Given the description of an element on the screen output the (x, y) to click on. 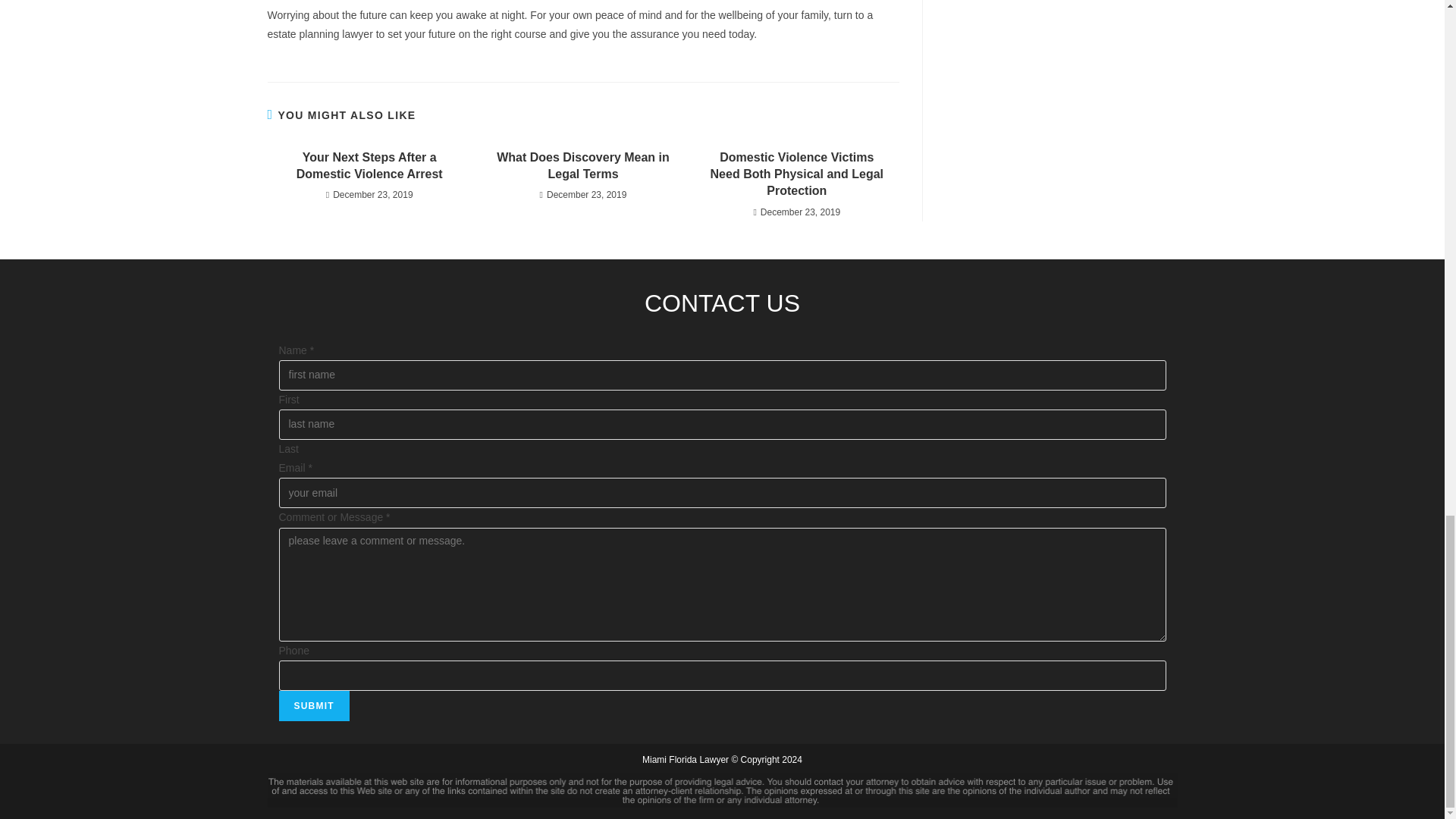
What Does Discovery Mean in Legal Terms (582, 166)
Your Next Steps After a Domestic Violence Arrest (368, 166)
